Given the description of an element on the screen output the (x, y) to click on. 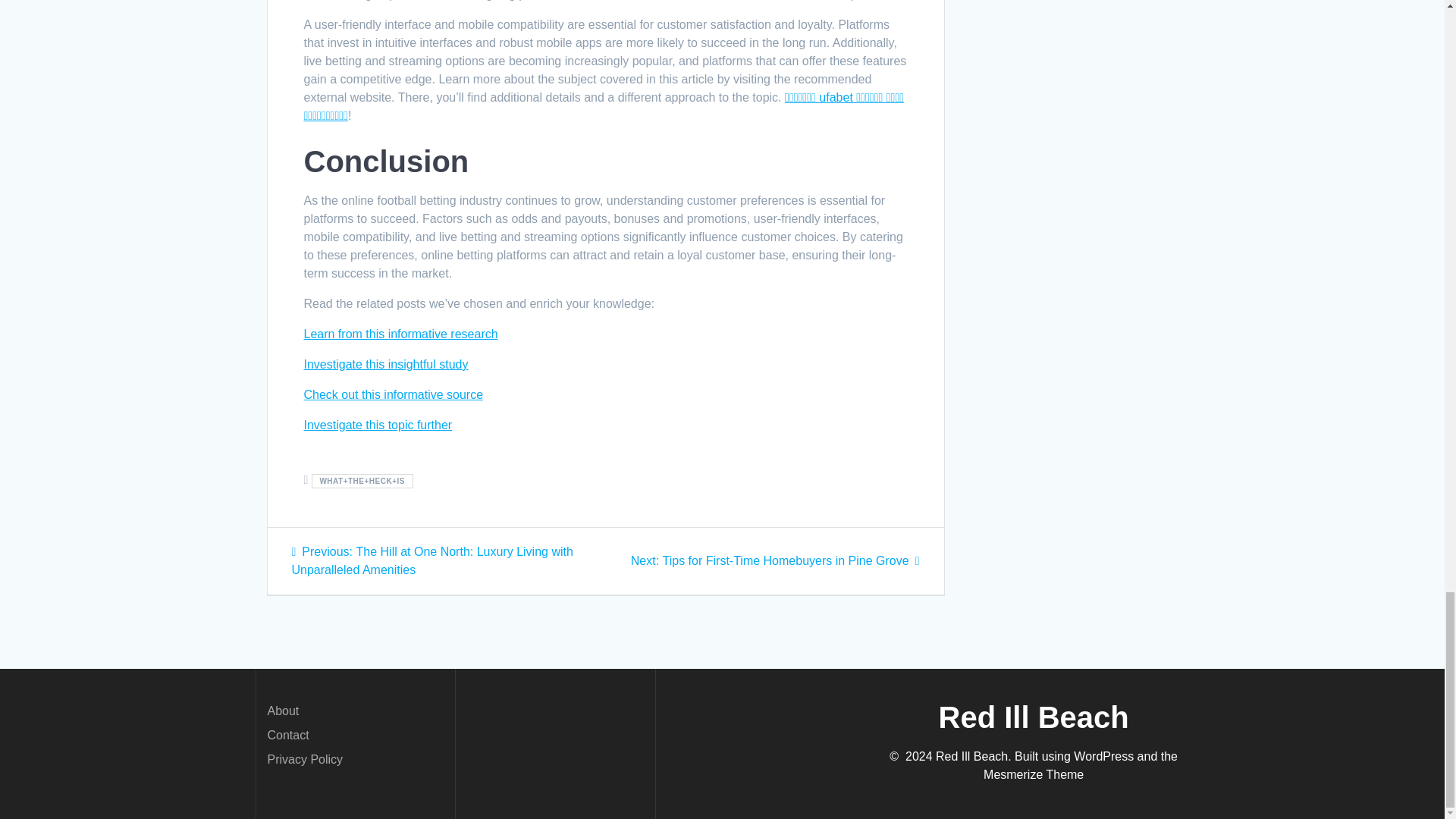
About (282, 710)
Investigate this insightful study (384, 364)
Learn from this informative research (399, 333)
Contact (287, 735)
Check out this informative source (392, 394)
Investigate this topic further (376, 424)
Privacy Policy (304, 758)
Mesmerize Theme (1033, 774)
